Given the description of an element on the screen output the (x, y) to click on. 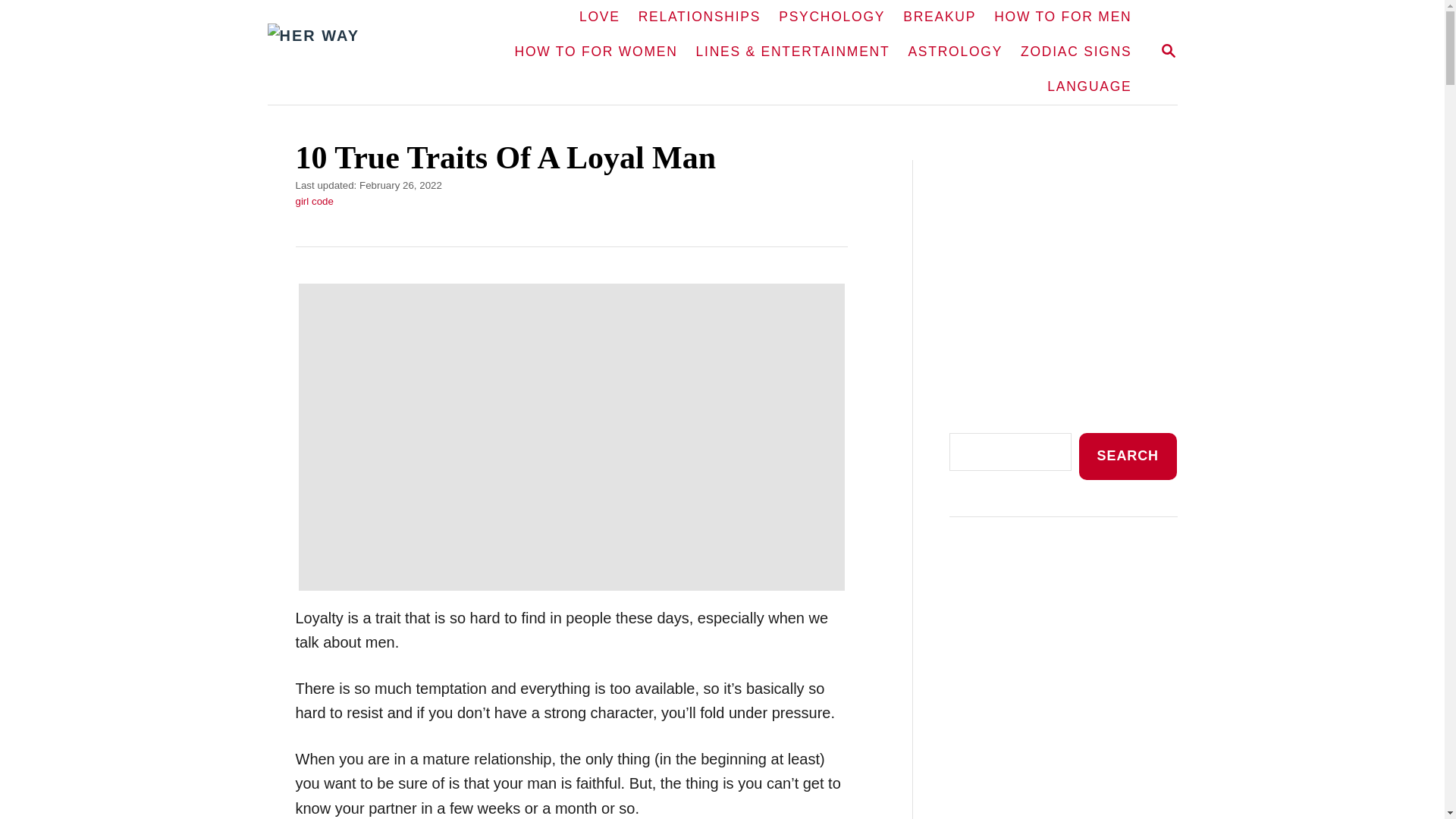
LOVE (599, 17)
PSYCHOLOGY (831, 17)
HOW TO FOR MEN (1062, 17)
RELATIONSHIPS (699, 17)
MAGNIFYING GLASS (1167, 50)
HOW TO FOR WOMEN (596, 52)
BREAKUP (1167, 51)
Her Way (939, 17)
